Given the description of an element on the screen output the (x, y) to click on. 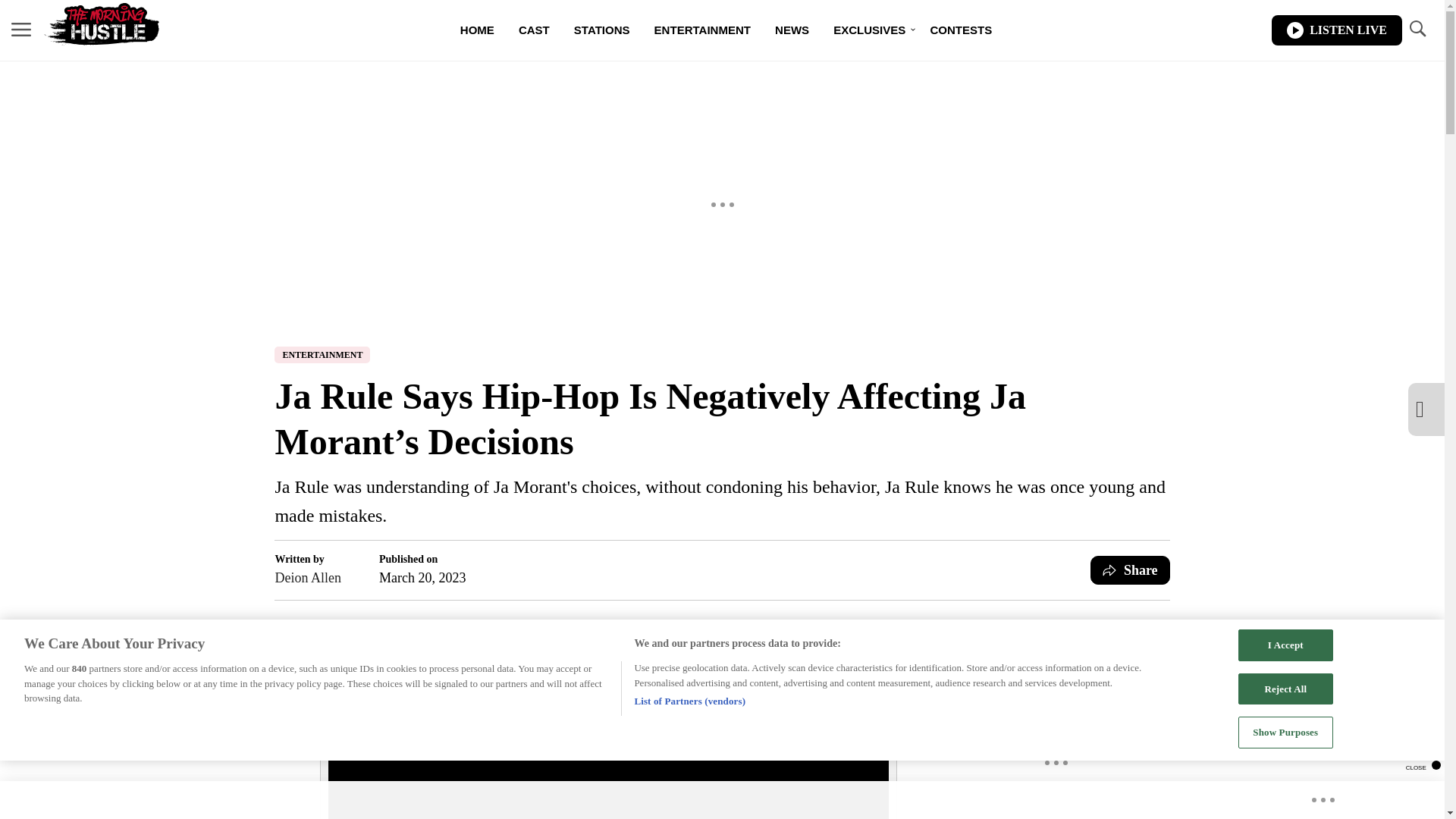
HOME (477, 30)
TOGGLE SEARCH (1417, 28)
Share (1130, 570)
EXCLUSIVES (869, 30)
CONTESTS (960, 30)
STATIONS (602, 30)
MENU (20, 29)
TOGGLE SEARCH (1417, 30)
MENU (20, 30)
LISTEN LIVE (1336, 30)
NEWS (791, 30)
ENTERTAINMENT (702, 30)
CAST (534, 30)
Deion Allen (307, 577)
